Given the description of an element on the screen output the (x, y) to click on. 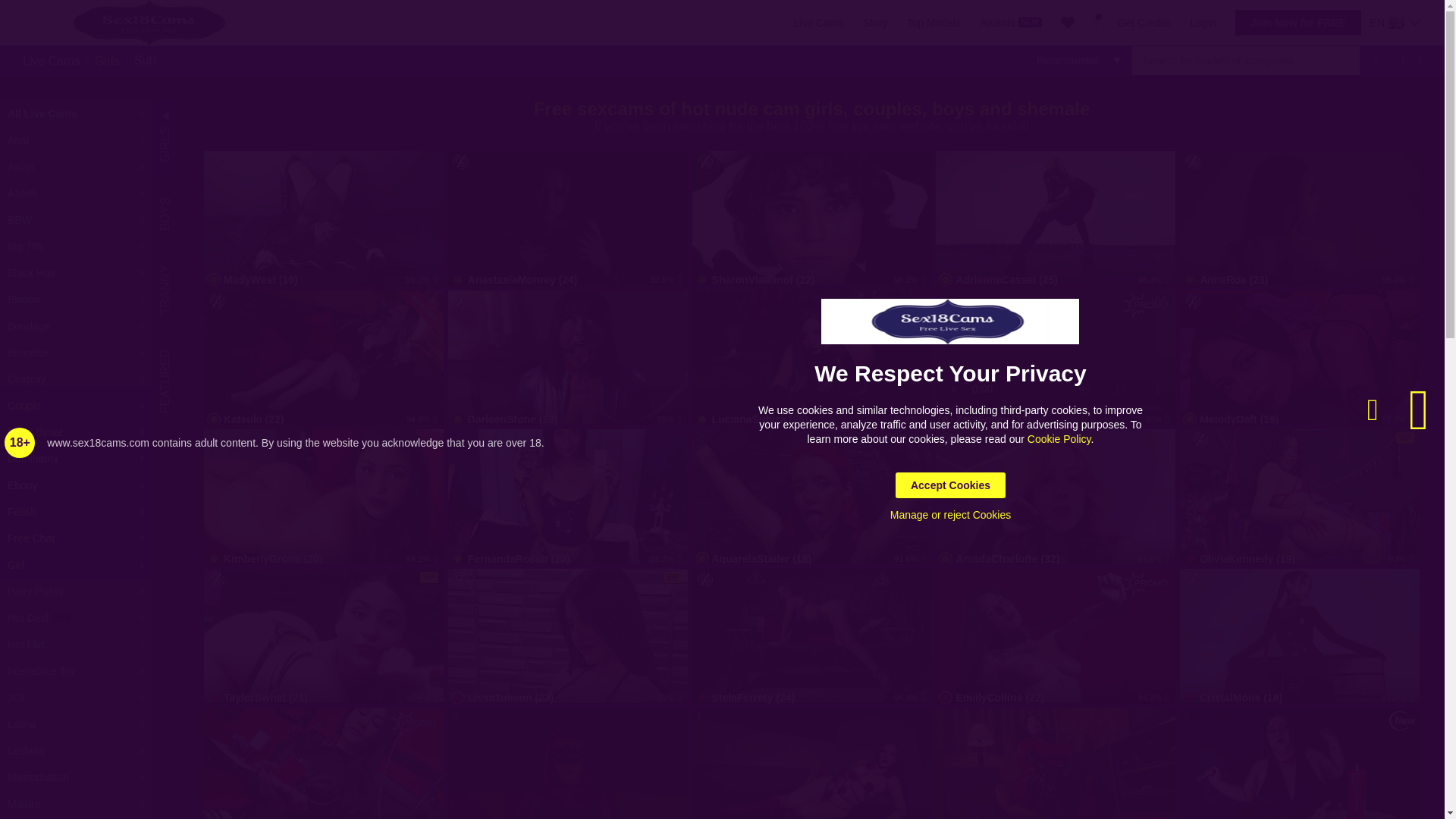
Accept Cookies (950, 484)
Messages (1096, 22)
Cookie Policy (1058, 439)
Join Now for FREE (1297, 22)
Live Cams (51, 60)
Awards NEW (1010, 22)
Manage or reject Cookies (950, 514)
Girls (106, 60)
Story (875, 22)
Recommended (1079, 60)
Login (1202, 22)
Live Cams (818, 22)
